Given the description of an element on the screen output the (x, y) to click on. 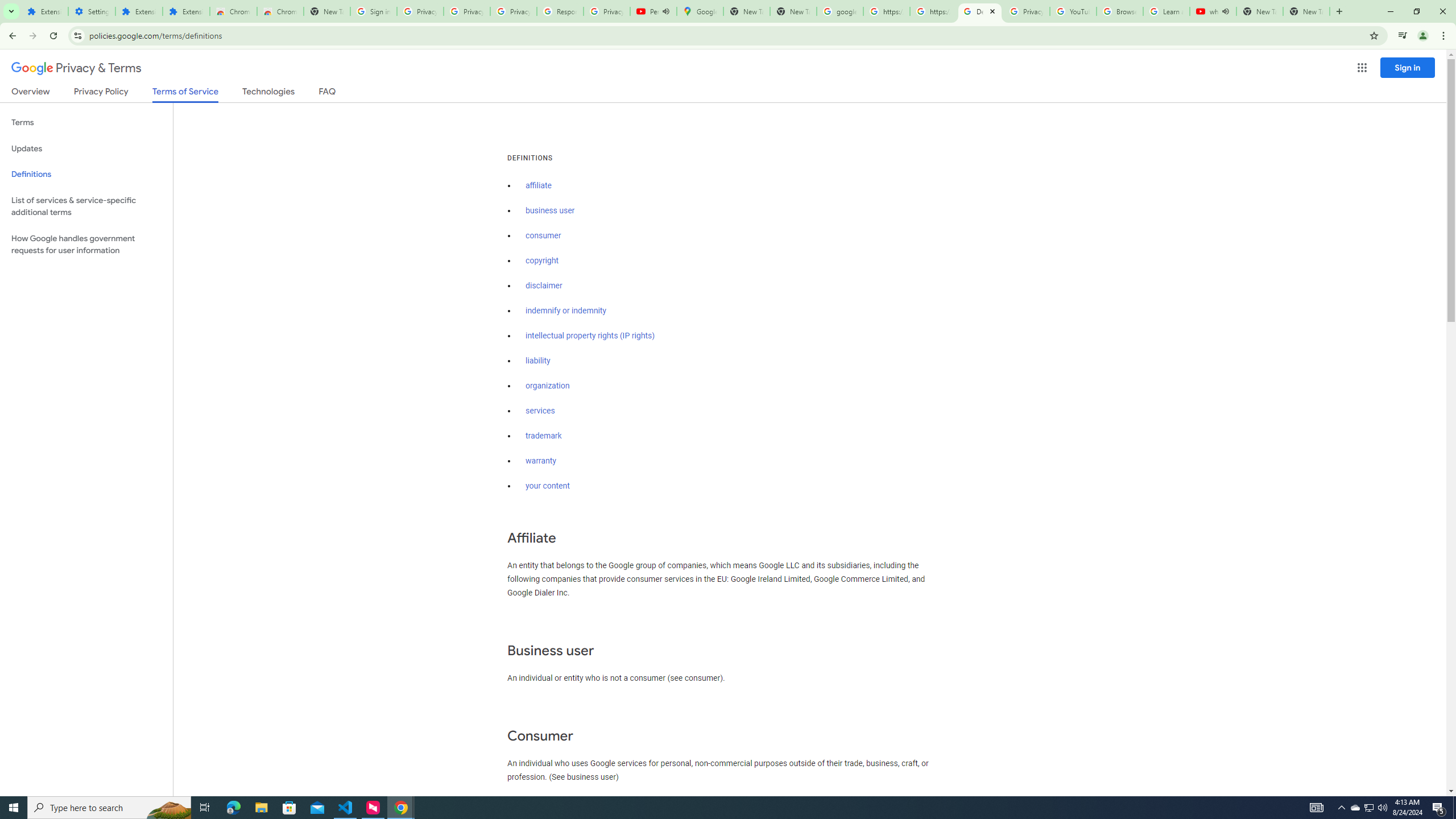
Extensions (186, 11)
Extensions (44, 11)
warranty (540, 461)
your content (547, 486)
affiliate (538, 185)
